Given the description of an element on the screen output the (x, y) to click on. 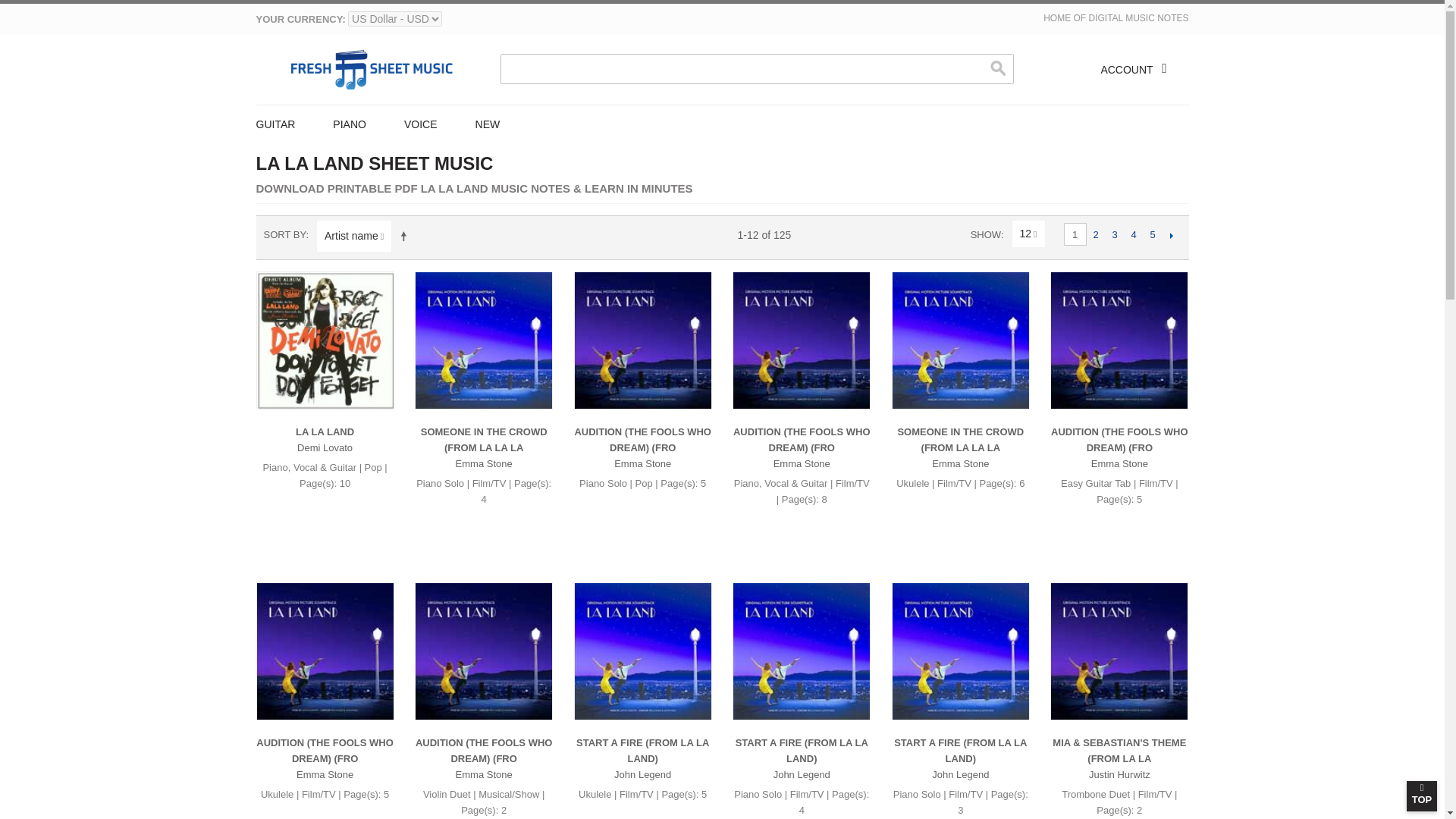
Search (997, 68)
Demi Lovato (324, 447)
Demi Lovato La La Land Sheet Music (324, 339)
Set Descending Direction (405, 235)
VOICE (421, 123)
Your Currency (394, 18)
ACCOUNT (1139, 69)
Artist name (351, 235)
PIANO (349, 123)
Emma Stone (483, 463)
Set Descending Direction (405, 235)
NEW (488, 123)
TOP (1421, 796)
GUITAR (285, 123)
La La Land (324, 431)
